Given the description of an element on the screen output the (x, y) to click on. 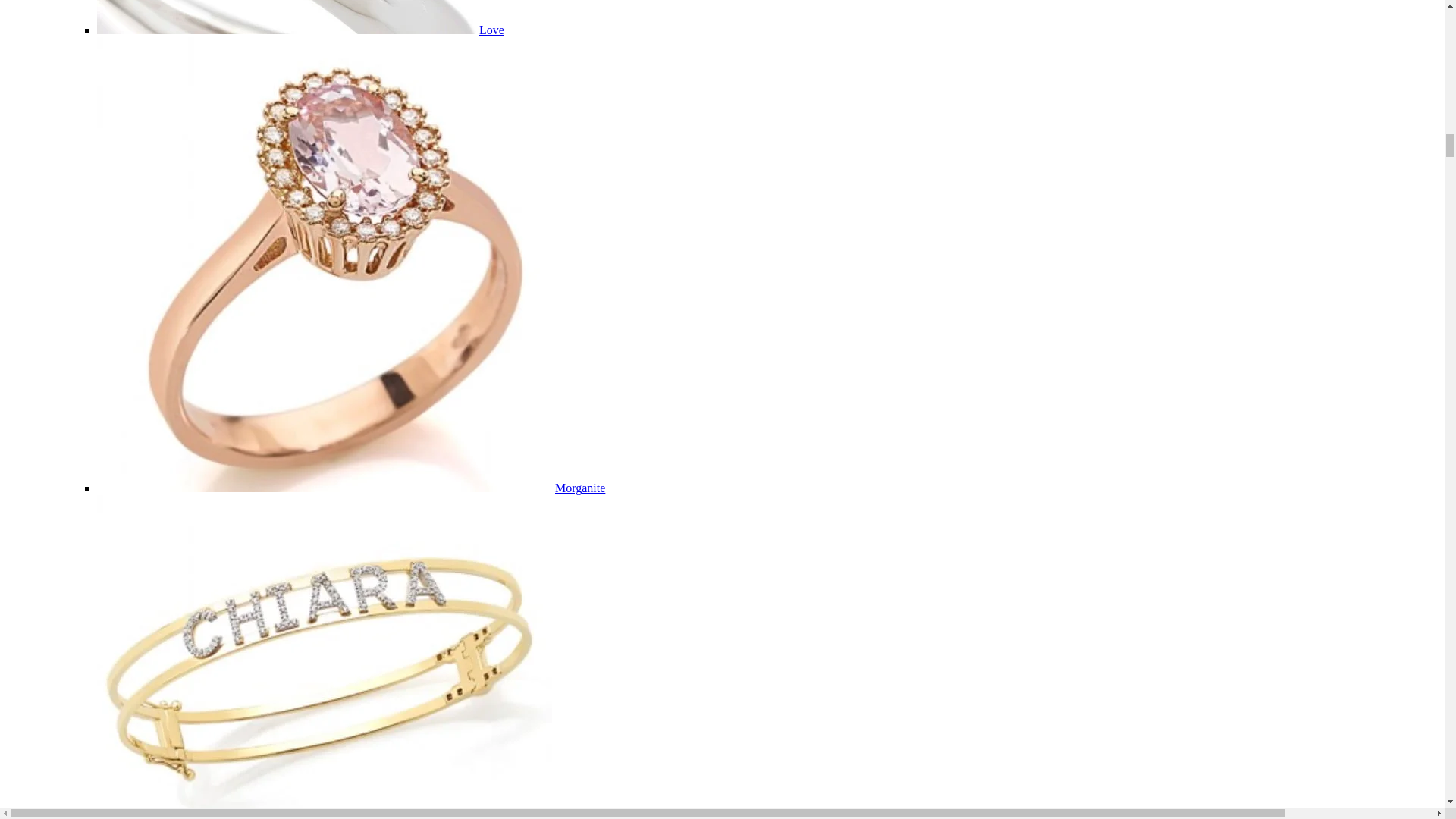
Love (491, 29)
Morganite (579, 487)
